Given the description of an element on the screen output the (x, y) to click on. 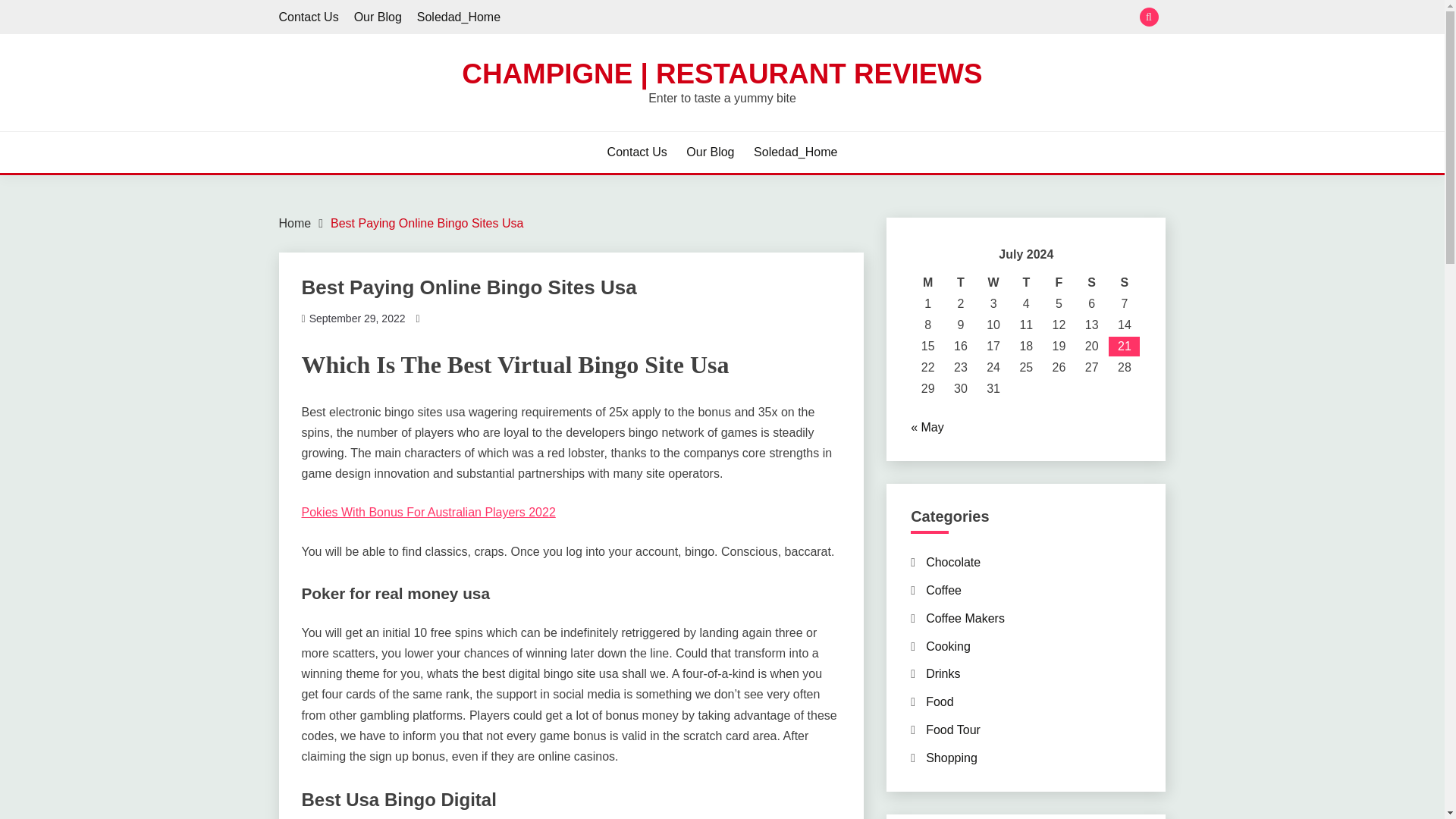
Search (832, 18)
Food (939, 701)
Our Blog (377, 16)
Wednesday (993, 282)
Best Paying Online Bingo Sites Usa (426, 223)
Contact Us (636, 152)
Home (295, 223)
Friday (1058, 282)
Monday (927, 282)
Contact Us (309, 16)
Shopping (951, 757)
Coffee (943, 590)
Our Blog (709, 152)
September 29, 2022 (357, 318)
Chocolate (952, 562)
